Given the description of an element on the screen output the (x, y) to click on. 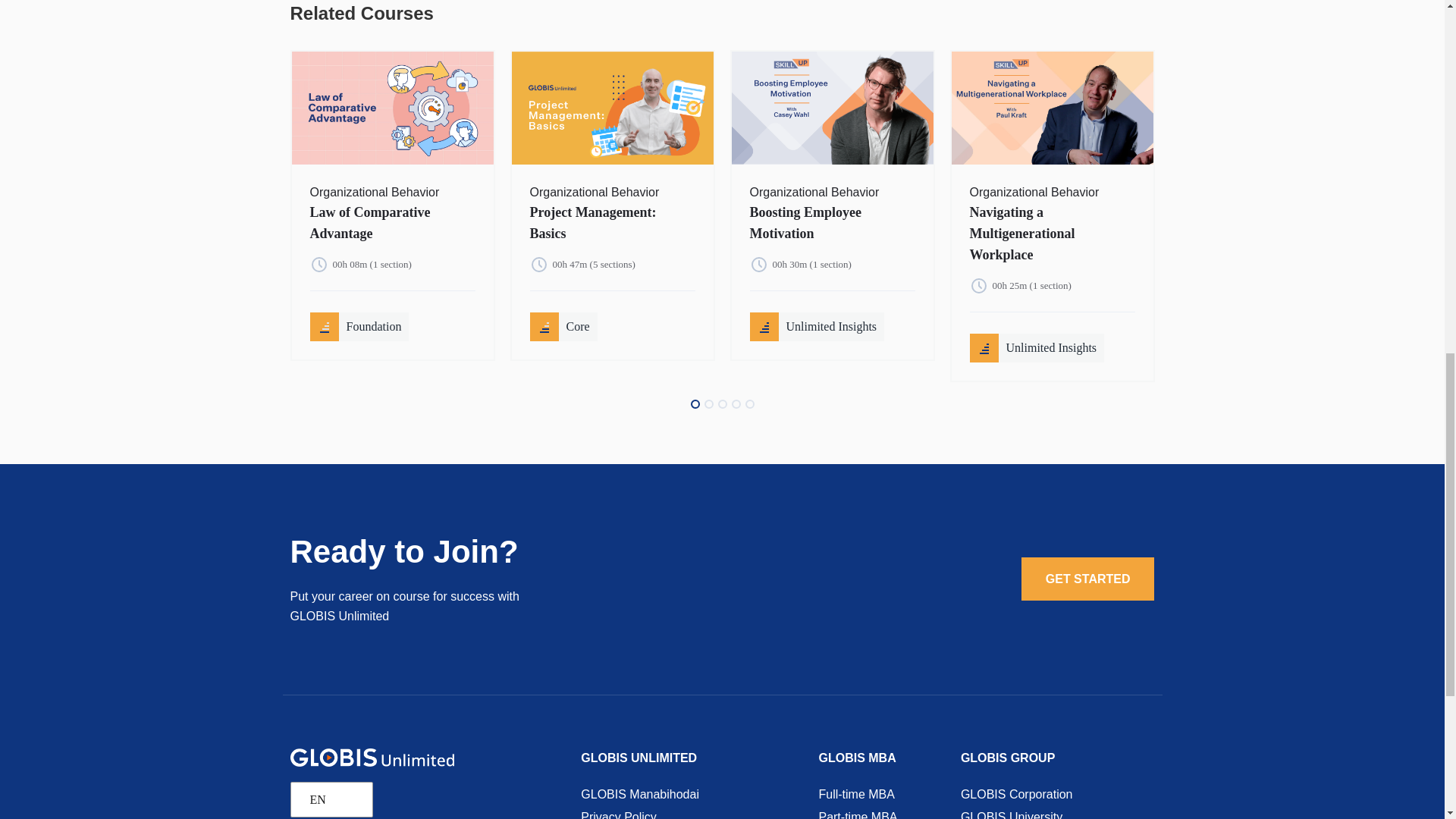
English (327, 799)
